Given the description of an element on the screen output the (x, y) to click on. 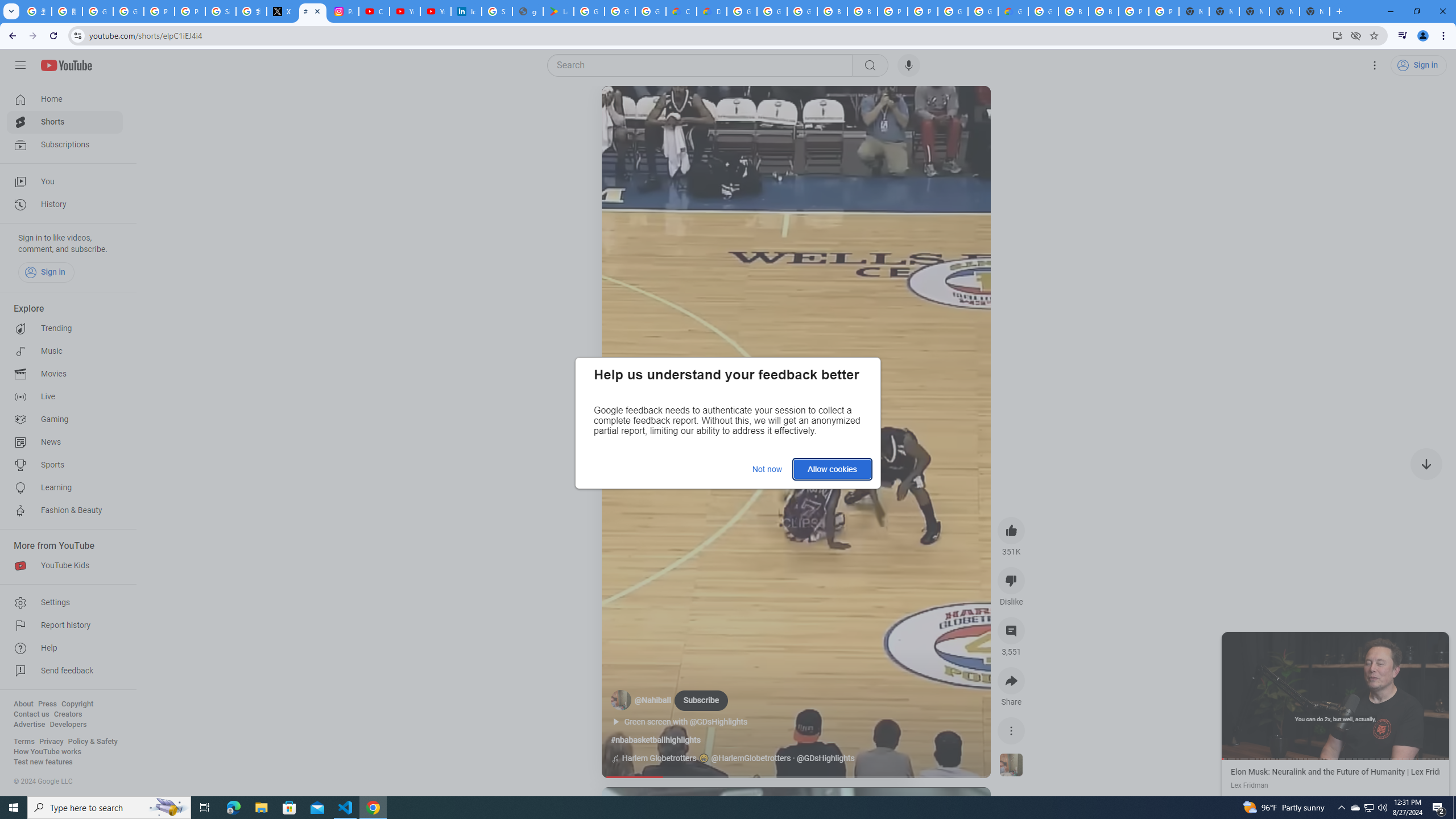
music icon (615, 758)
See more videos using this sound (1011, 765)
Google Cloud Platform (952, 11)
Next (SHIFT+n) (1392, 694)
Send feedback (64, 671)
Live (64, 396)
YouTube Kids (64, 565)
Allow cookies (831, 468)
X (282, 11)
Subscribe (701, 700)
